Given the description of an element on the screen output the (x, y) to click on. 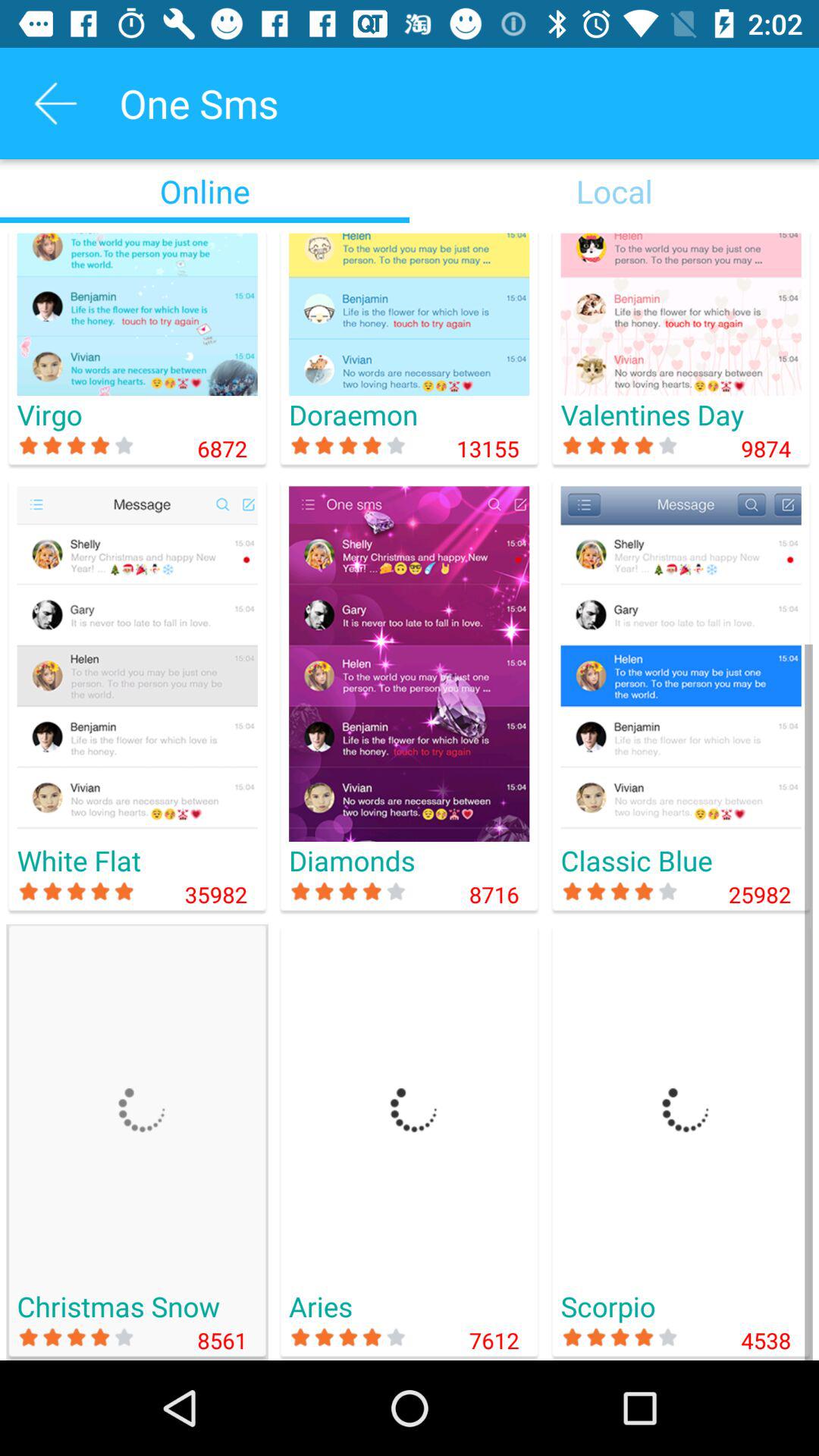
open the icon next to online icon (614, 190)
